Given the description of an element on the screen output the (x, y) to click on. 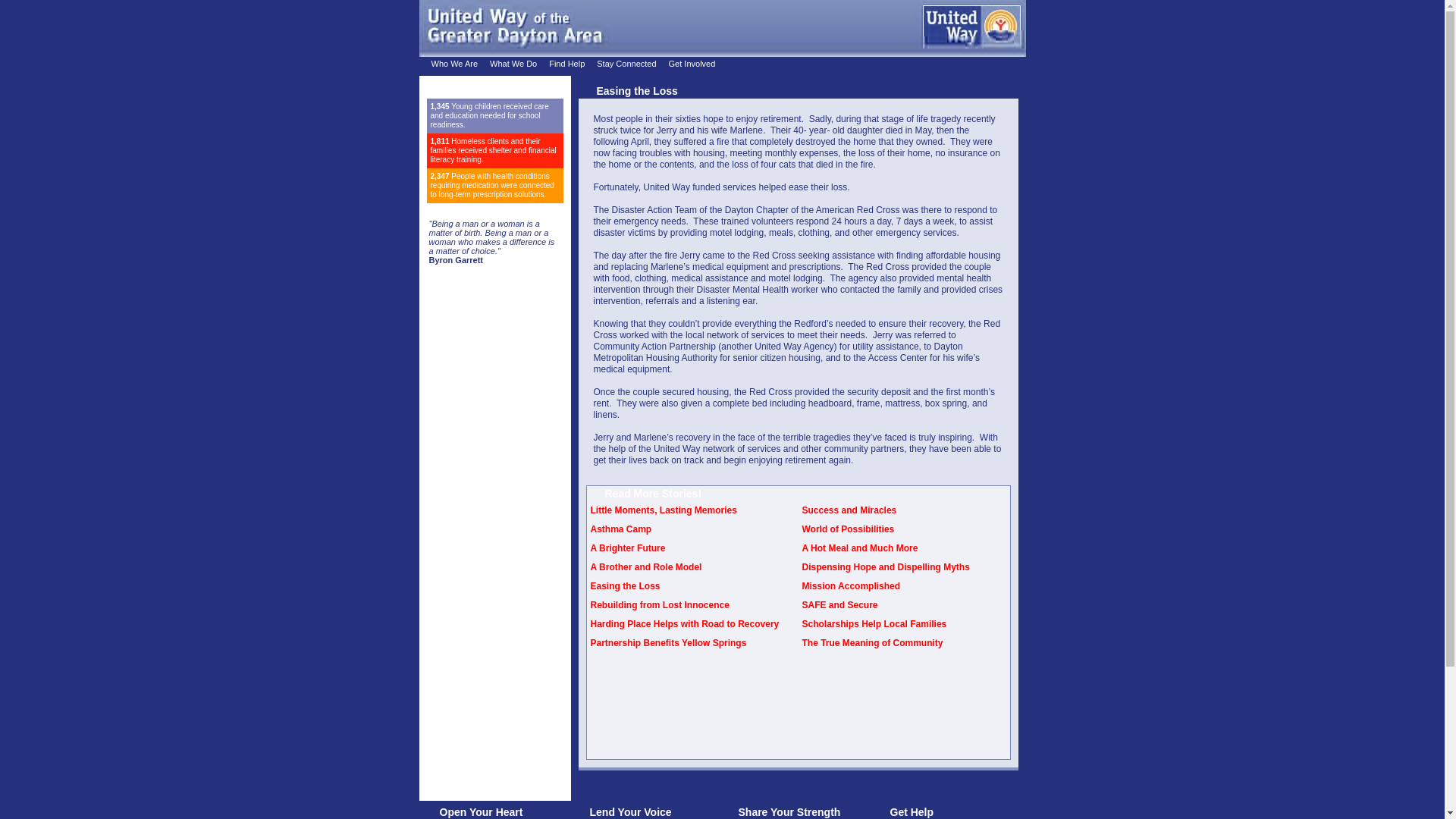
What We Do (513, 63)
Find Help (566, 63)
Get Involved (692, 63)
Stay Connected (626, 63)
What We Do (513, 63)
Find Help (566, 63)
Who We Are (453, 63)
Who We Are (453, 63)
